Given the description of an element on the screen output the (x, y) to click on. 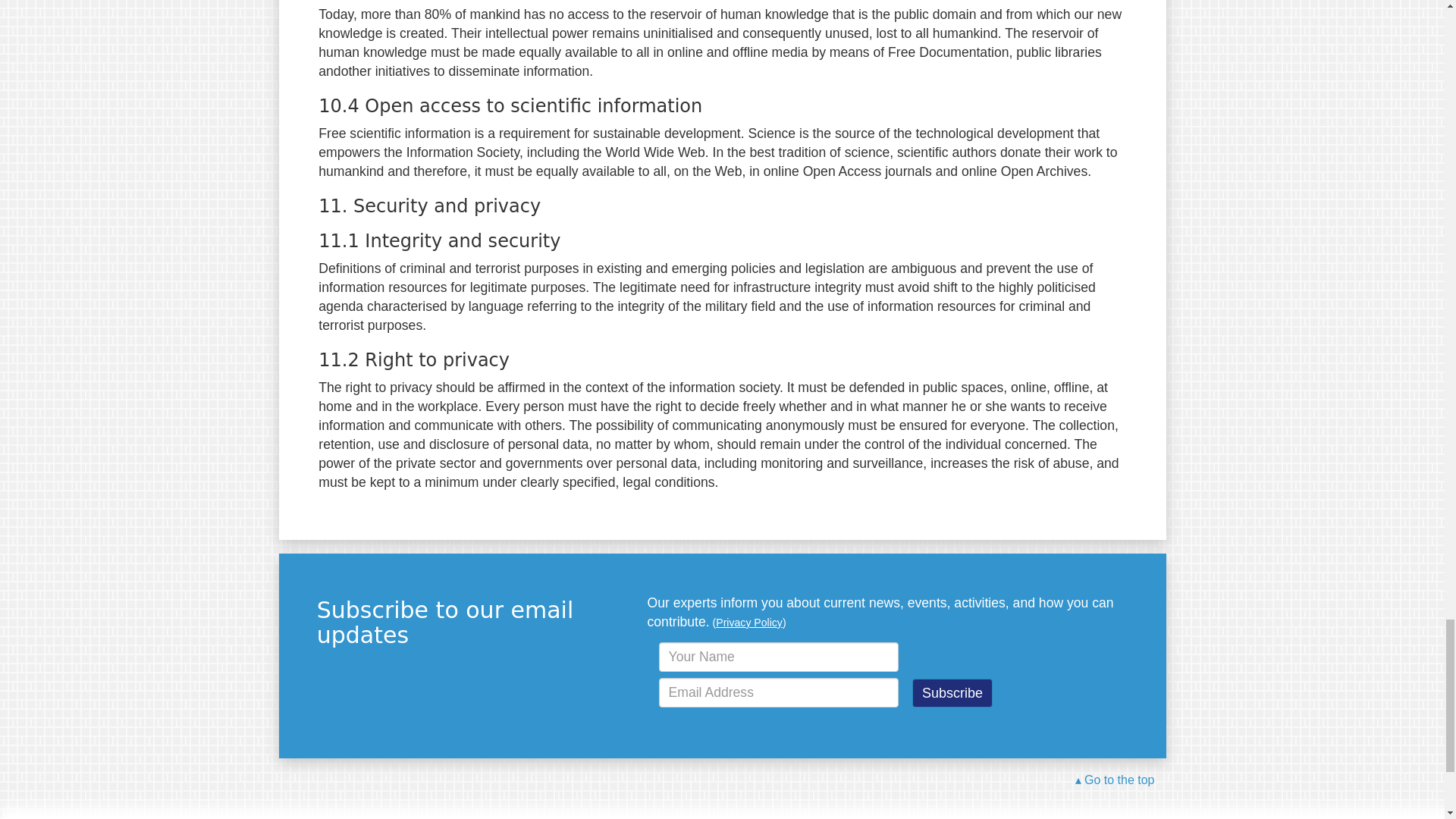
Go to the top (1114, 780)
Privacy Policy (749, 622)
Subscribe (952, 692)
Subscribe (952, 692)
